Given the description of an element on the screen output the (x, y) to click on. 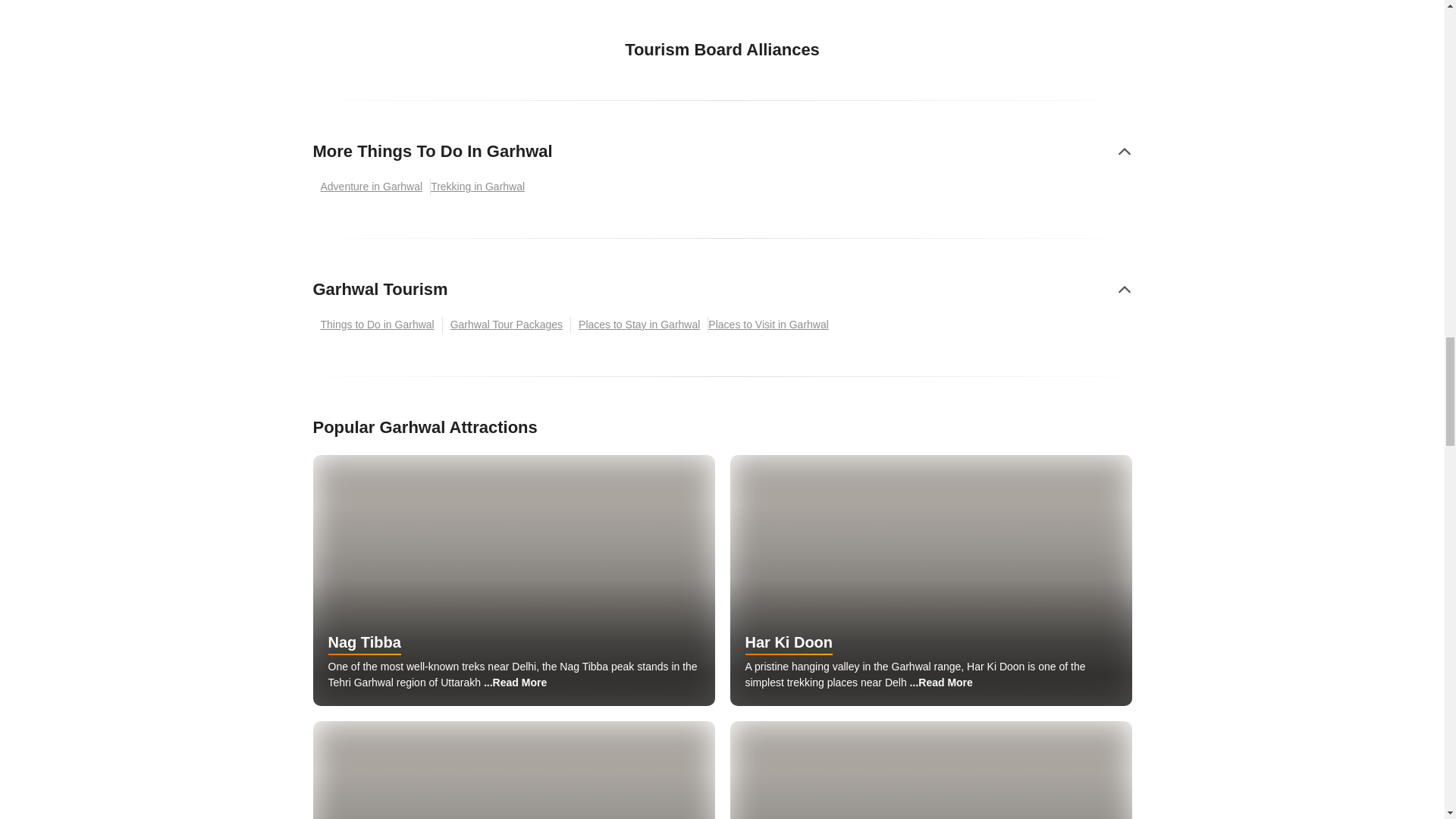
Places to Stay in Garhwal (638, 324)
Places to Visit in Garhwal (771, 324)
Adventure in Garhwal (371, 186)
Trekking in Garhwal (481, 186)
Garhwal Tour Packages (506, 324)
Things to Do in Garhwal (377, 324)
